Given the description of an element on the screen output the (x, y) to click on. 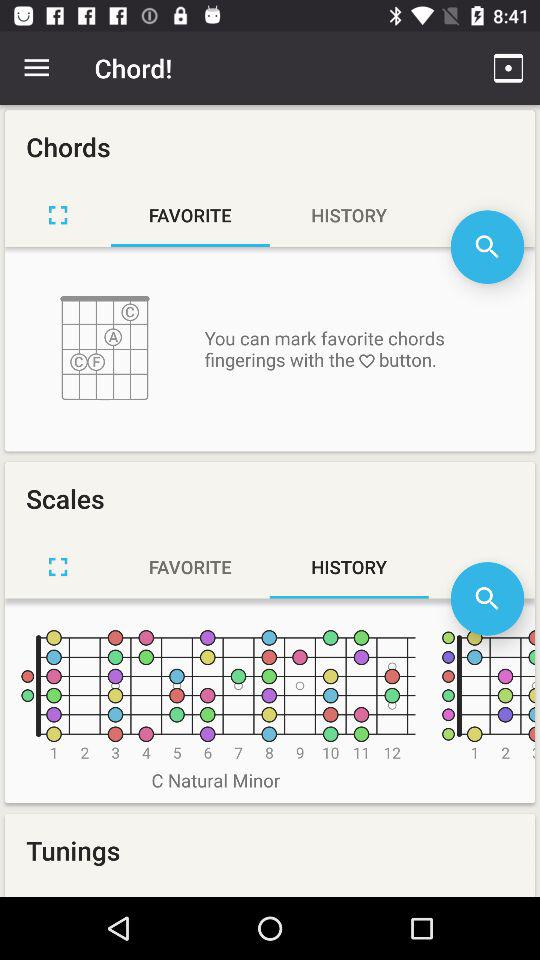
search favorites (487, 246)
